Given the description of an element on the screen output the (x, y) to click on. 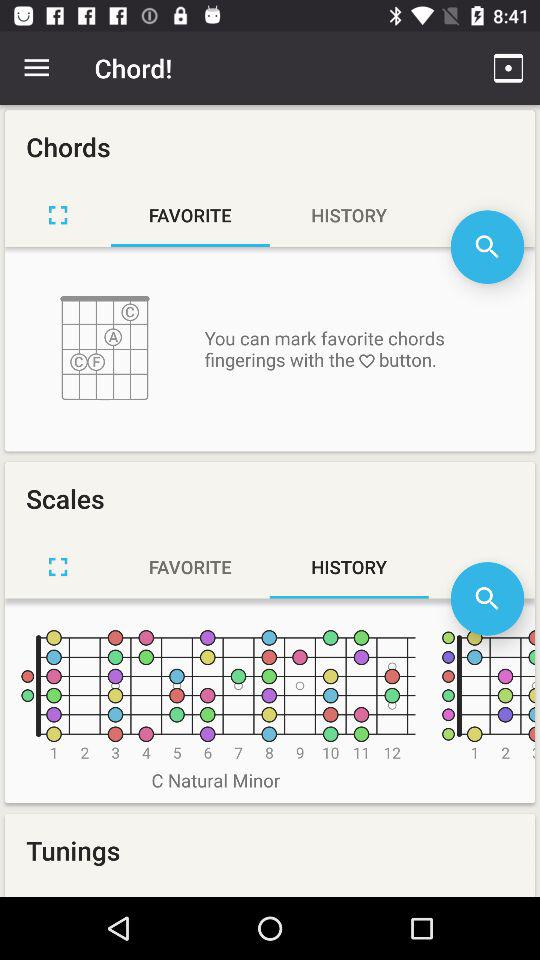
search favorites (487, 246)
